Given the description of an element on the screen output the (x, y) to click on. 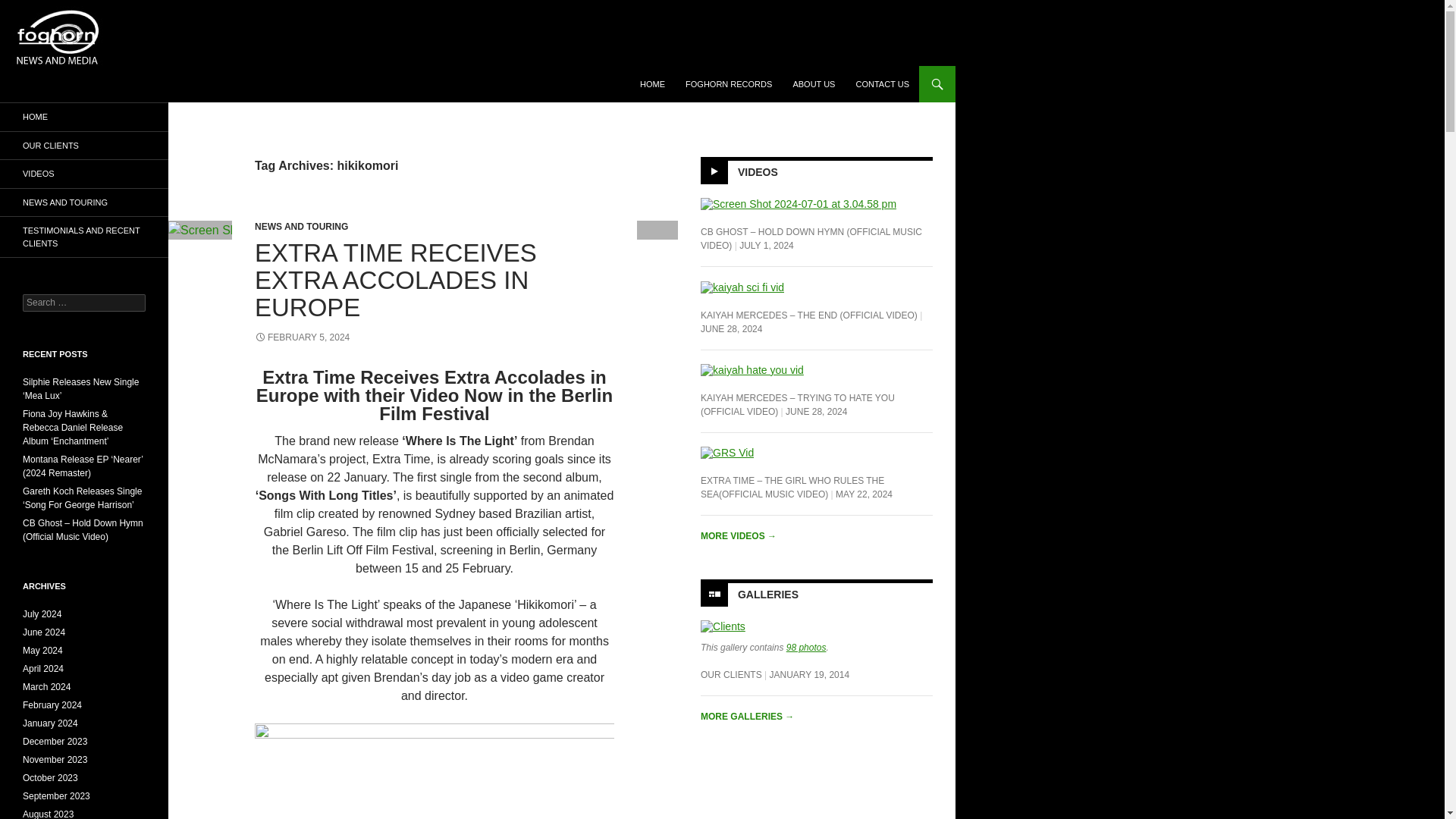
NEWS AND TOURING (300, 226)
SKIP TO CONTENT (676, 72)
FOGHORN RECORDS (728, 84)
Home (652, 84)
HOME (652, 84)
ABOUT US (813, 84)
CONTACT US (881, 84)
Foghorn News and Media (105, 83)
FEBRUARY 5, 2024 (301, 337)
Search (23, 75)
Search for: (84, 303)
EXTRA TIME RECEIVES EXTRA ACCOLADES IN EUROPE (395, 280)
